Given the description of an element on the screen output the (x, y) to click on. 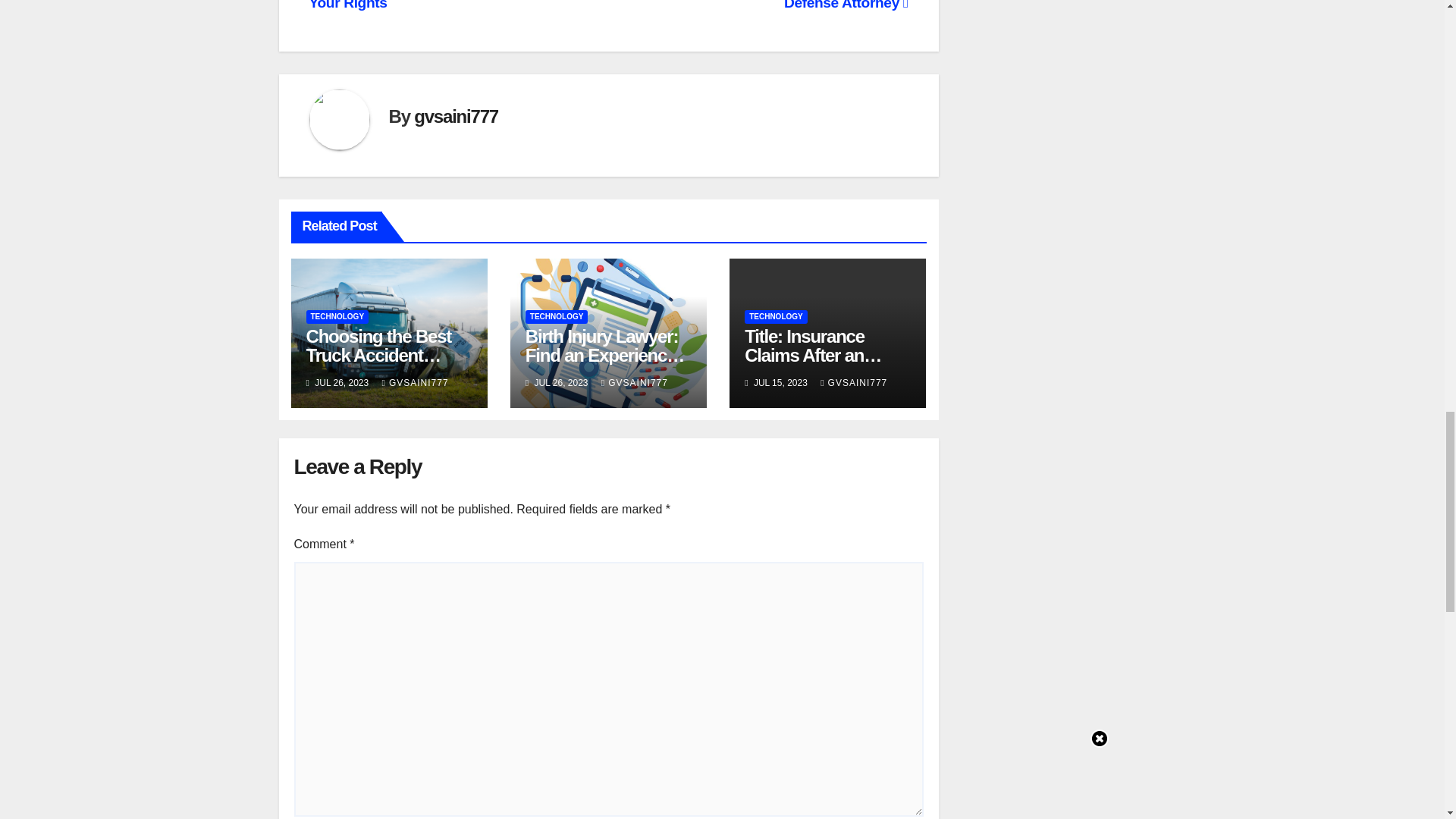
GVSAINI777 (414, 382)
gvsaini777 (455, 116)
Choosing the Best Truck Accident Lawyer in the US (378, 354)
Hire a Personal Injury Lawyer to Fight for Your Rights (449, 5)
Defend Your Freedom with a Skilled Criminal Defense Attorney (759, 5)
TECHNOLOGY (337, 316)
